Given the description of an element on the screen output the (x, y) to click on. 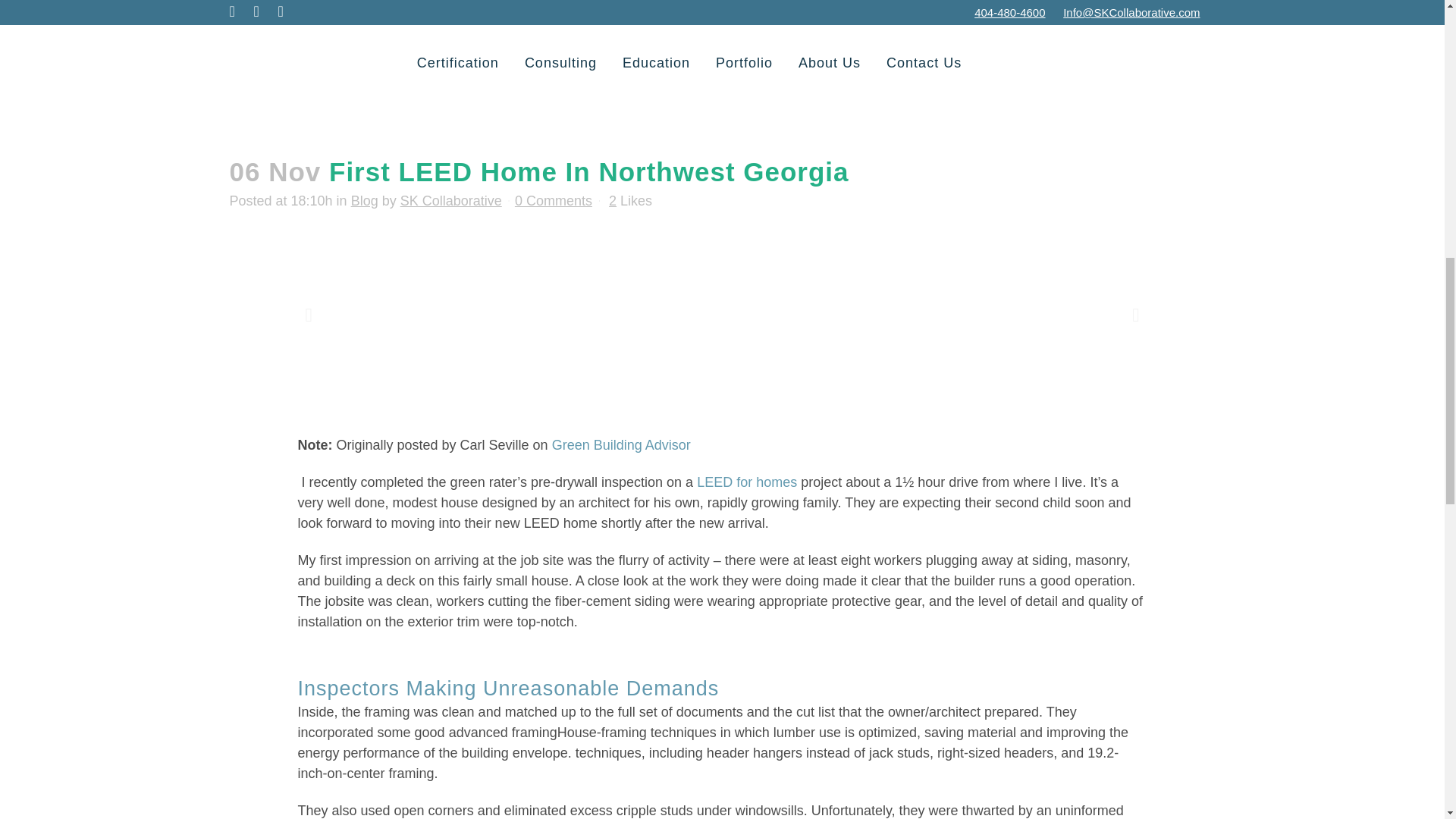
Like this (630, 200)
